Given the description of an element on the screen output the (x, y) to click on. 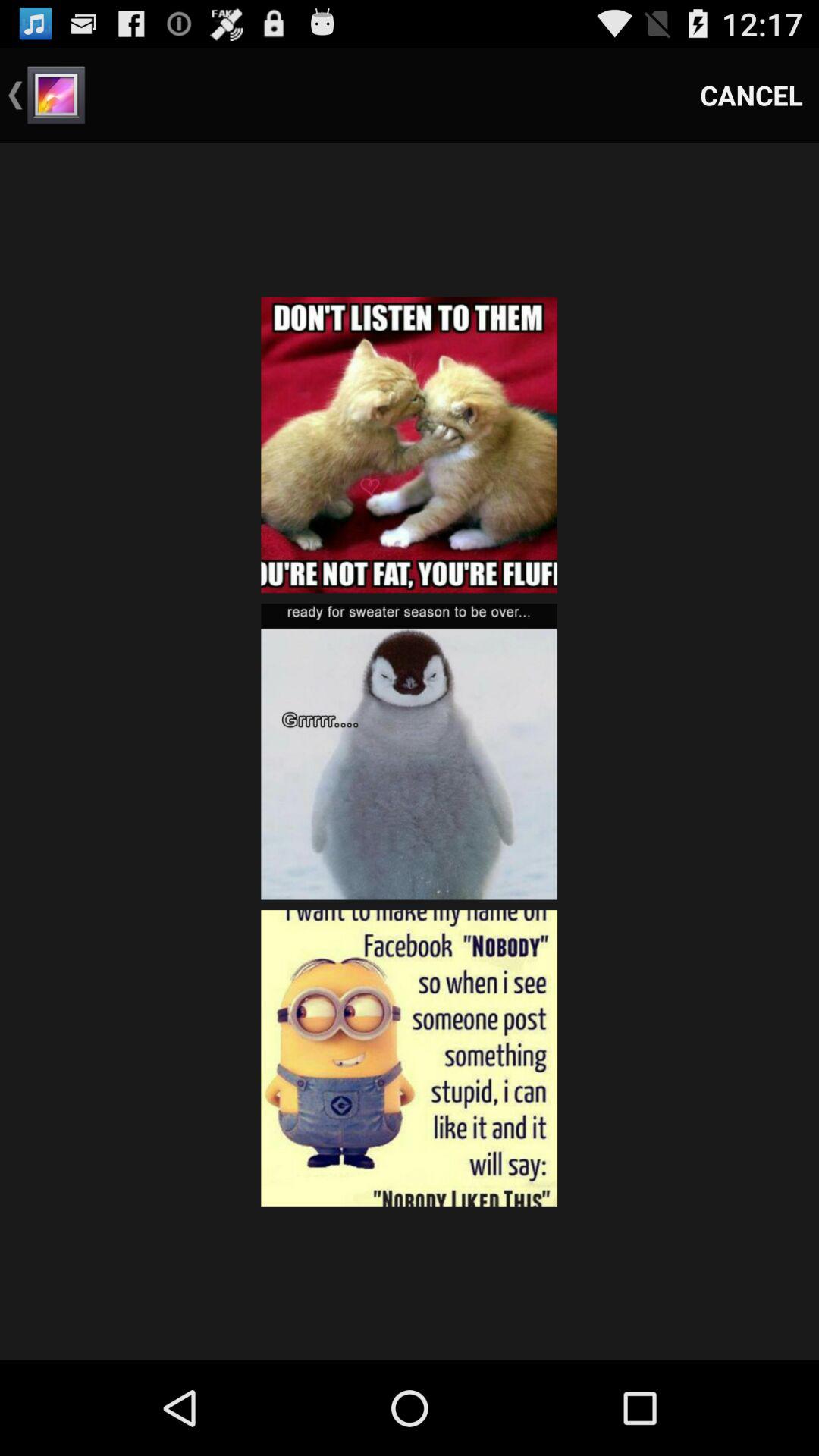
turn off the cancel icon (751, 95)
